Given the description of an element on the screen output the (x, y) to click on. 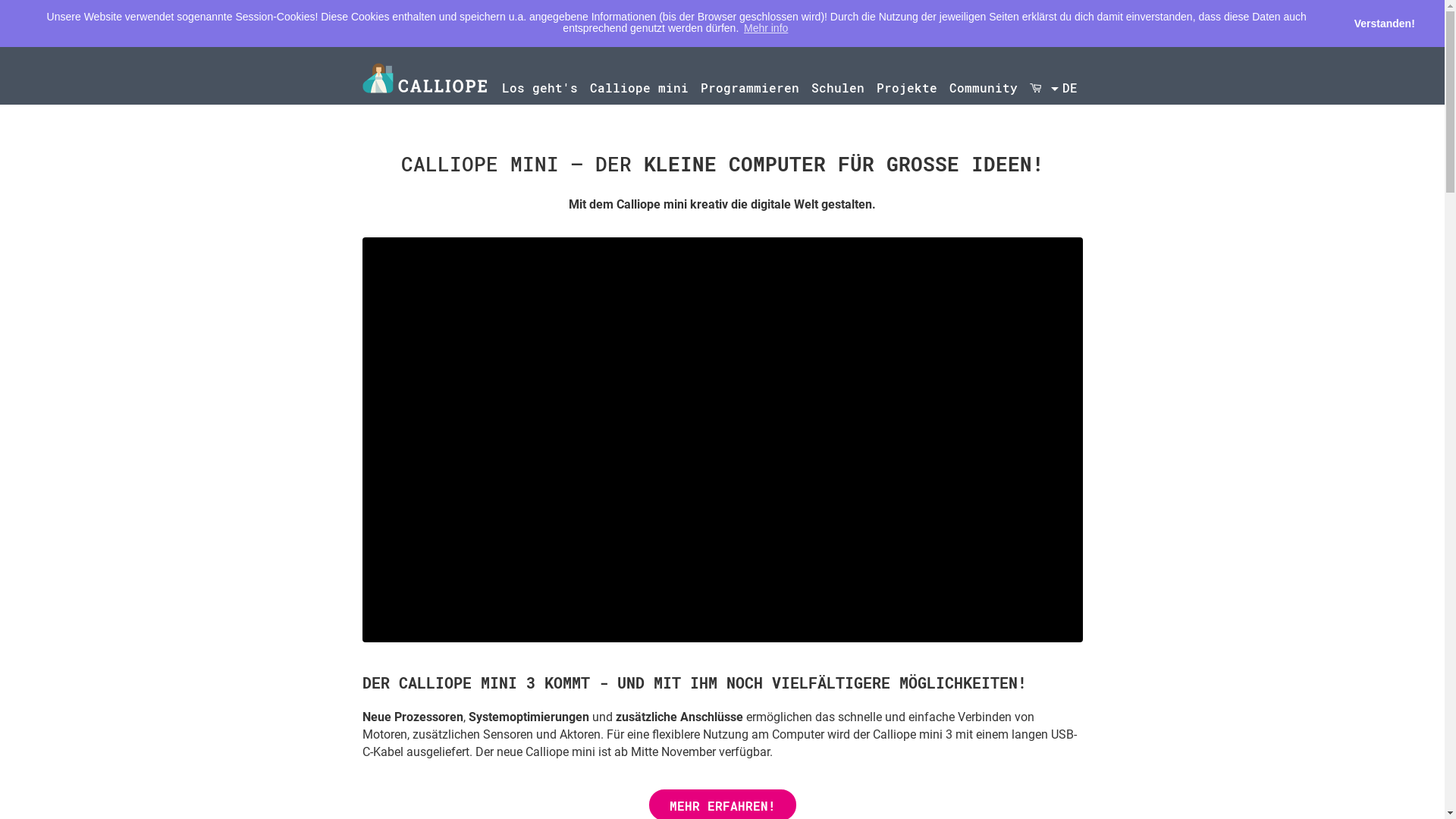
Community Element type: text (983, 87)
Verstanden! Element type: text (1384, 23)
DE Element type: text (1068, 87)
Mehr info Element type: text (765, 27)
Shop Element type: text (1035, 87)
Projekte Element type: text (906, 87)
Schulen Element type: text (837, 87)
Los geht's Element type: text (539, 87)
Programmieren Element type: text (749, 87)
Calliope mini Element type: text (638, 87)
